Given the description of an element on the screen output the (x, y) to click on. 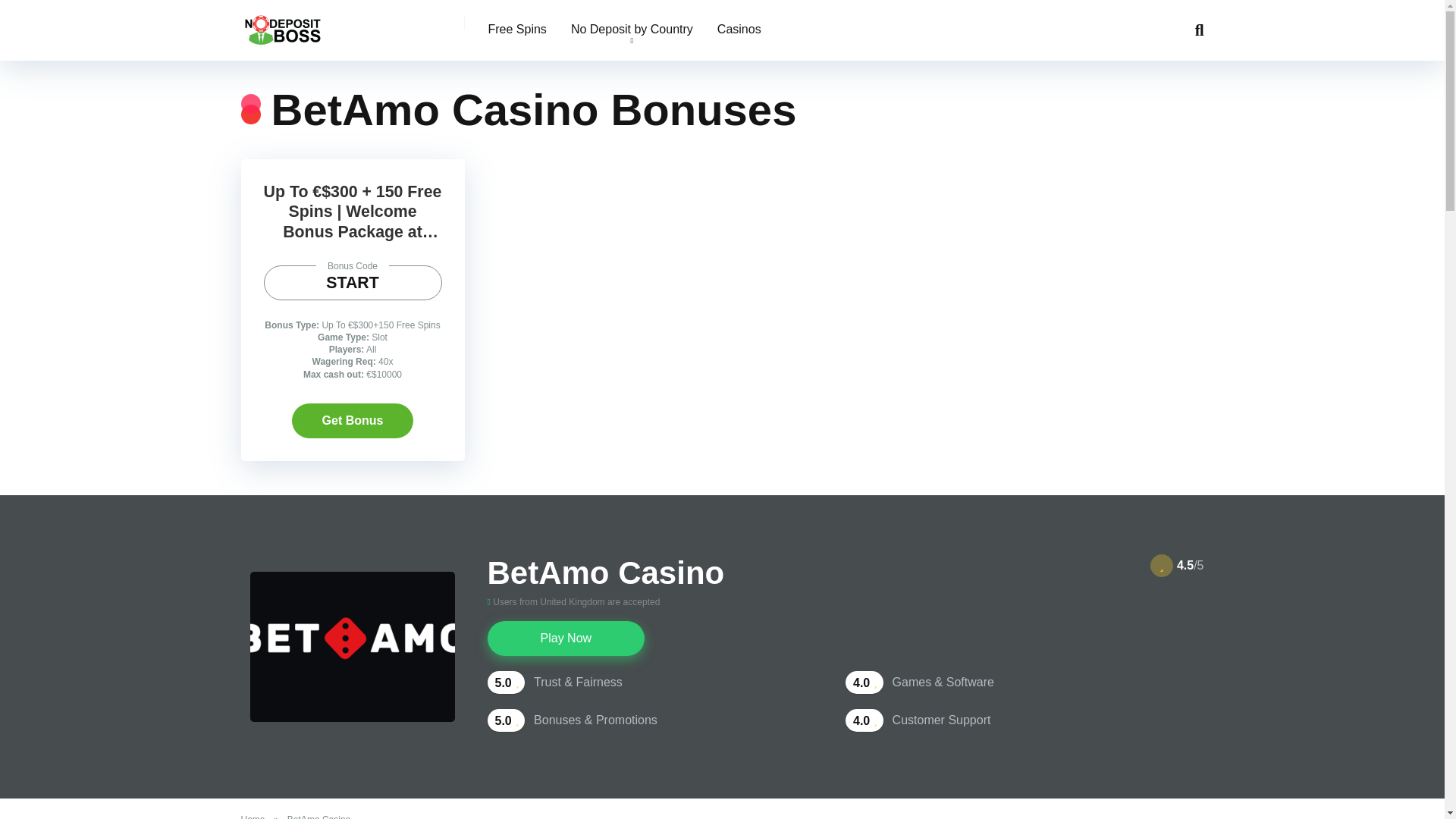
No Deposit by Country (631, 30)
Free Spins (517, 30)
Casinos (738, 30)
Casino Bonus (282, 30)
